Given the description of an element on the screen output the (x, y) to click on. 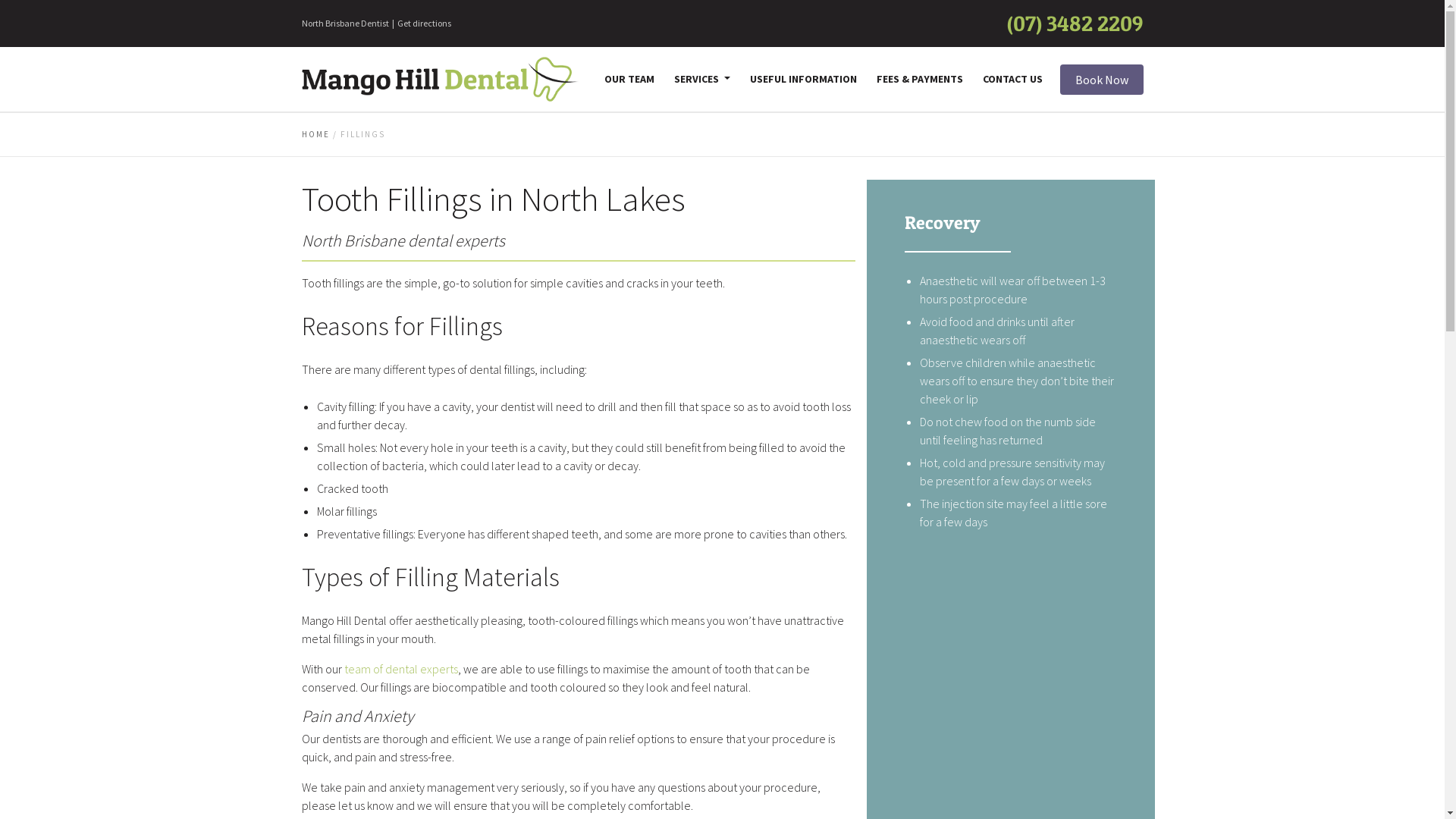
CONTACT US Element type: text (1012, 79)
USEFUL INFORMATION Element type: text (802, 79)
(07) 3482 2209 Element type: text (1075, 23)
HOME Element type: text (315, 133)
OUR TEAM Element type: text (629, 79)
Get directions Element type: text (424, 22)
FEES & PAYMENTS Element type: text (919, 79)
Book Now Element type: text (1101, 78)
SERVICES Element type: text (702, 79)
team of dental experts Element type: text (401, 668)
